Given the description of an element on the screen output the (x, y) to click on. 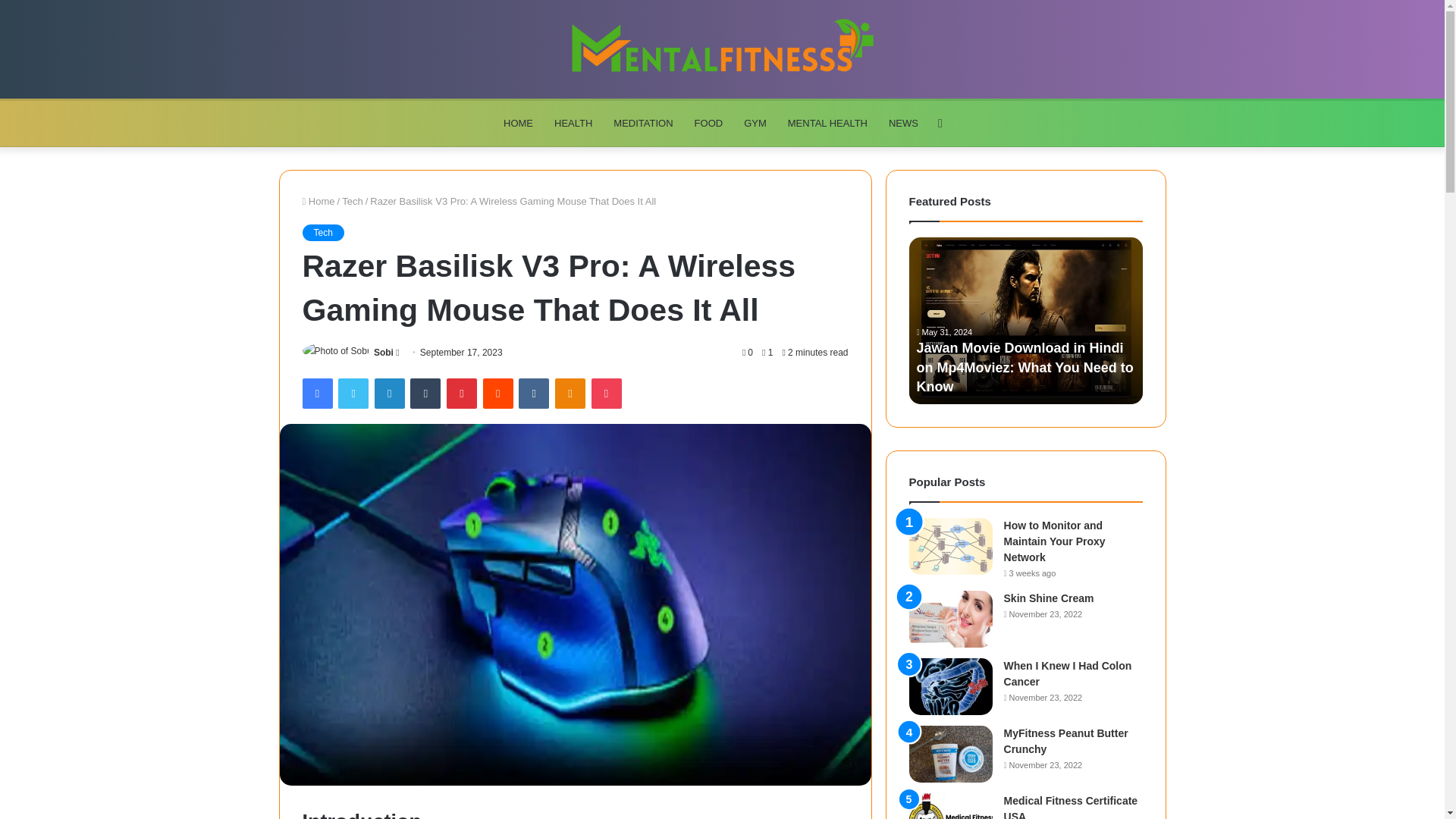
LinkedIn (389, 393)
Home (317, 201)
Tech (352, 201)
Sobi (383, 352)
Pocket (606, 393)
Twitter (352, 393)
Facebook (316, 393)
Pocket (606, 393)
Facebook (316, 393)
MEDITATION (642, 123)
FOOD (708, 123)
VKontakte (533, 393)
Odnoklassniki (569, 393)
Tumblr (425, 393)
Reddit (498, 393)
